Given the description of an element on the screen output the (x, y) to click on. 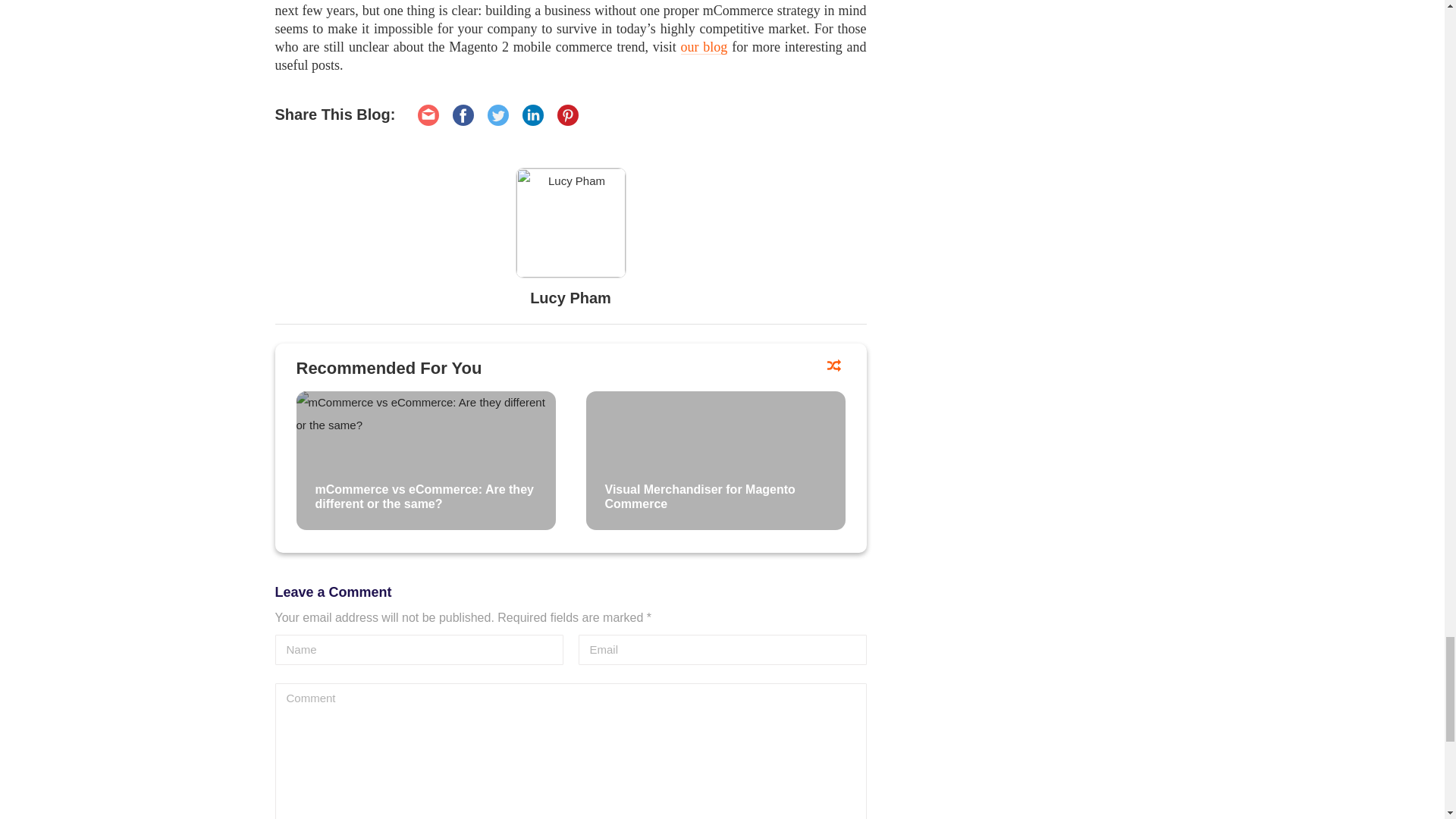
our blog (704, 46)
Share with Pinterest (567, 115)
Share with Twitter (497, 115)
Share with LinkedIn (532, 115)
Share with Facebook (463, 115)
Share with Gmail (428, 115)
Lucy Pham (569, 222)
Visual Merchandiser for Magento Commerce (714, 460)
mCommerce vs eCommerce: Are they different or the same? (424, 460)
